Given the description of an element on the screen output the (x, y) to click on. 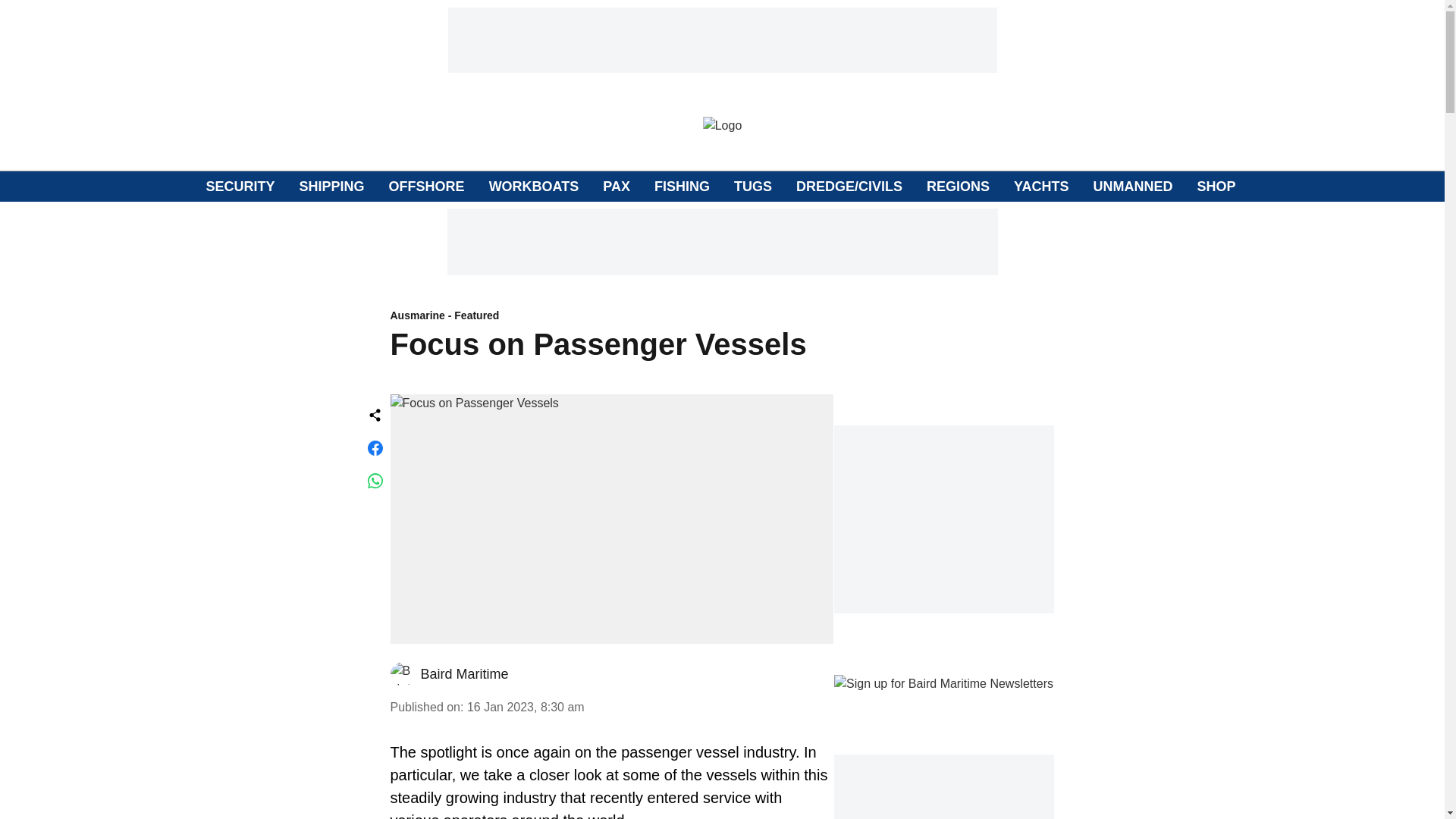
2023-01-16 00:30 (526, 707)
YACHTS (1040, 186)
SHIPPING (332, 186)
WORKBOATS (534, 186)
TUGS (752, 186)
Ausmarine - Featured (611, 316)
UNMANNED (1132, 186)
PAX (616, 186)
FISHING (681, 186)
Baird Maritime (464, 672)
SECURITY (240, 186)
OFFSHORE (426, 186)
SHOP (1215, 186)
